Given the description of an element on the screen output the (x, y) to click on. 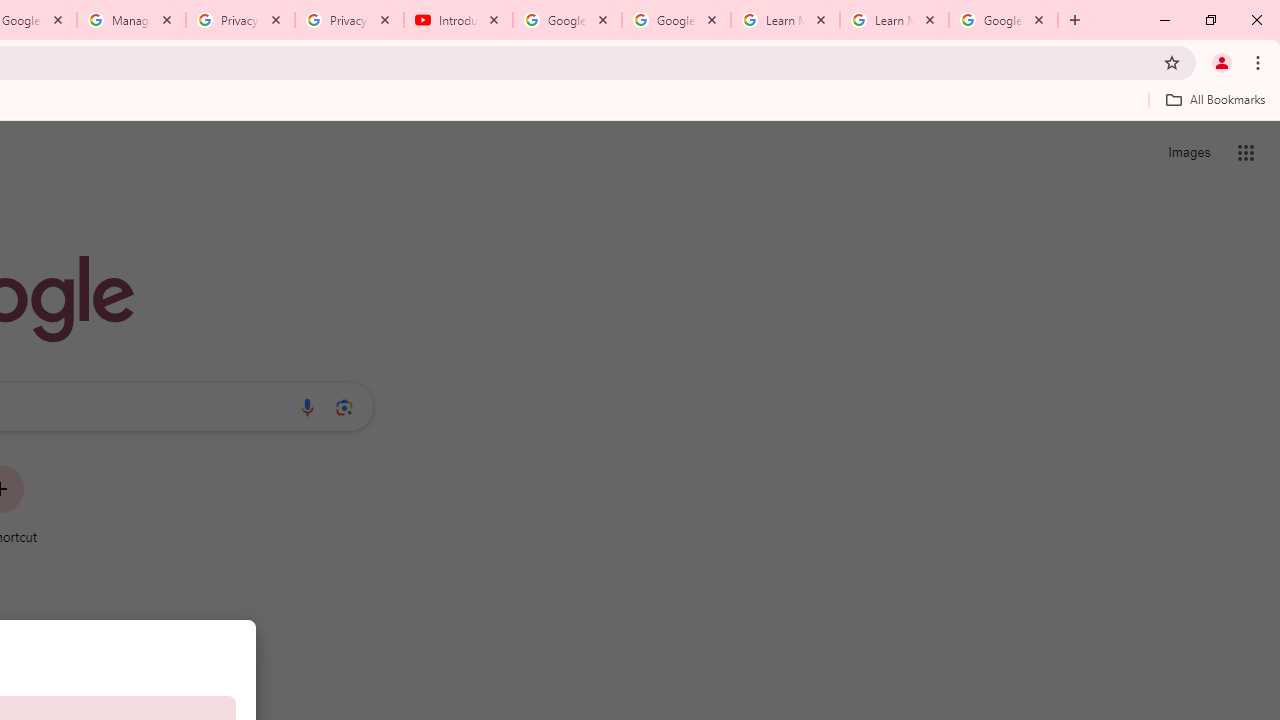
Google Account (1003, 20)
Google Account Help (567, 20)
All Bookmarks (1215, 99)
Google Account Help (676, 20)
Introduction | Google Privacy Policy - YouTube (458, 20)
